Given the description of an element on the screen output the (x, y) to click on. 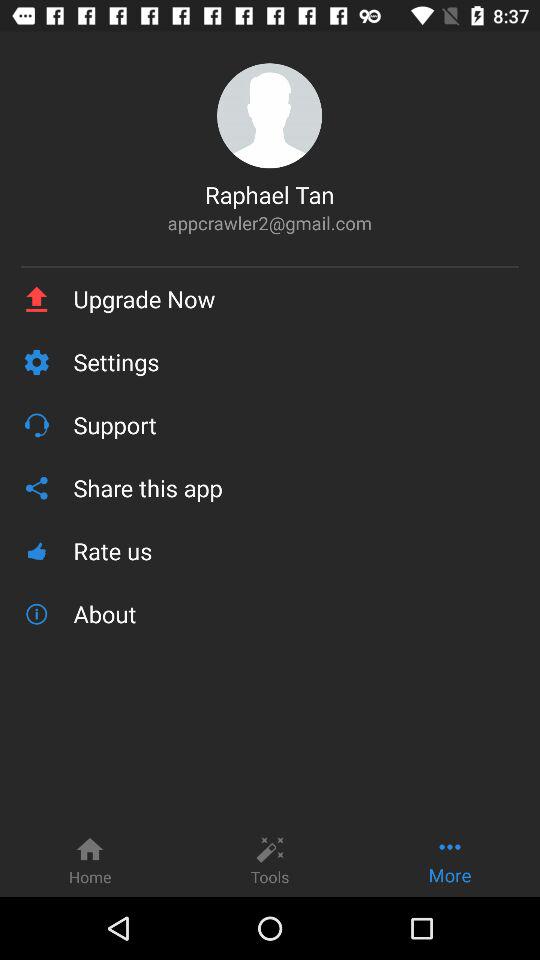
turn off the upgrade now item (296, 299)
